Given the description of an element on the screen output the (x, y) to click on. 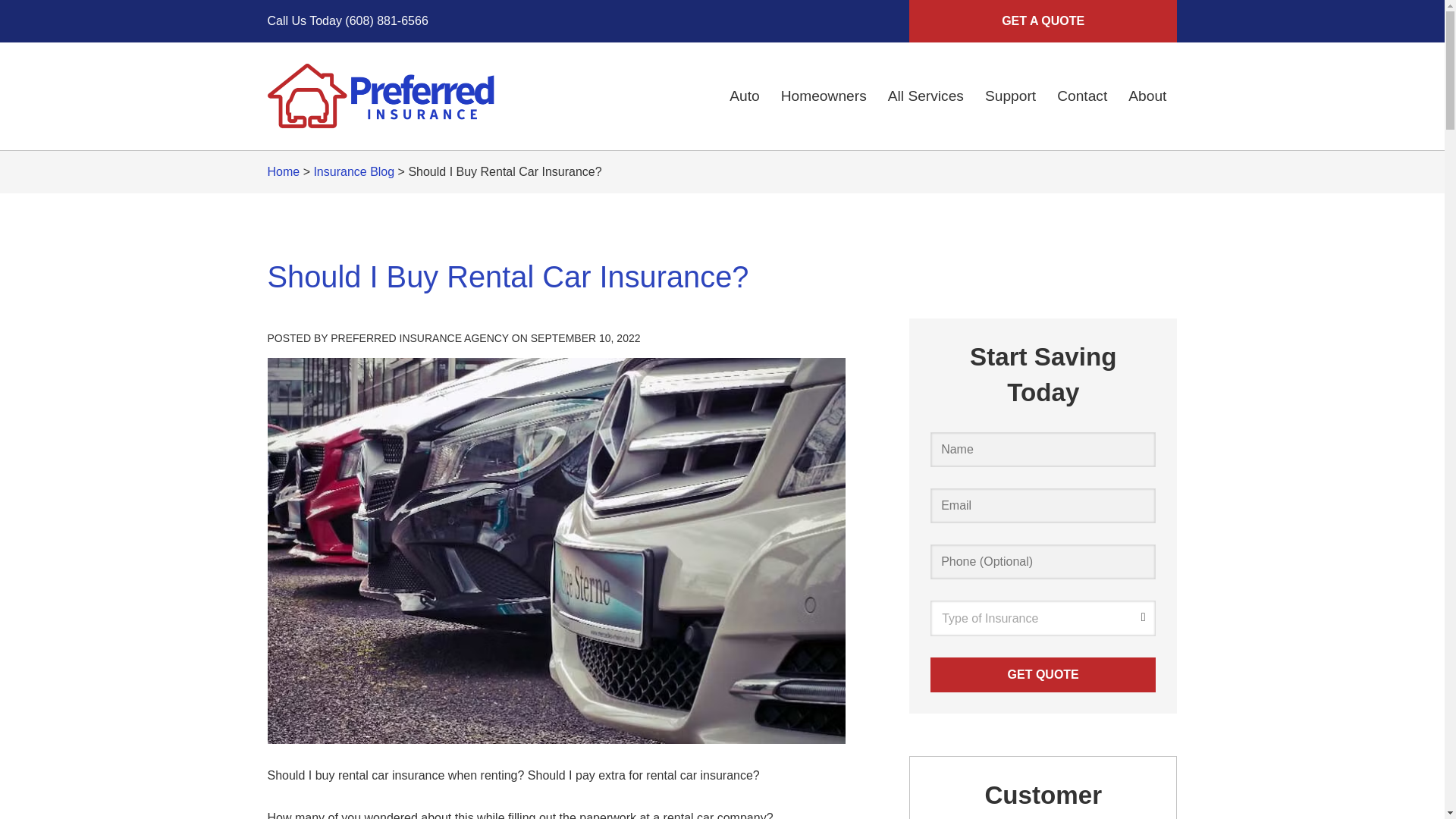
Auto (744, 95)
All Services (925, 95)
PRlacrosse (380, 95)
Homeowners (823, 95)
Support (1010, 95)
Get Quote (1043, 674)
GET A QUOTE (1042, 21)
